Given the description of an element on the screen output the (x, y) to click on. 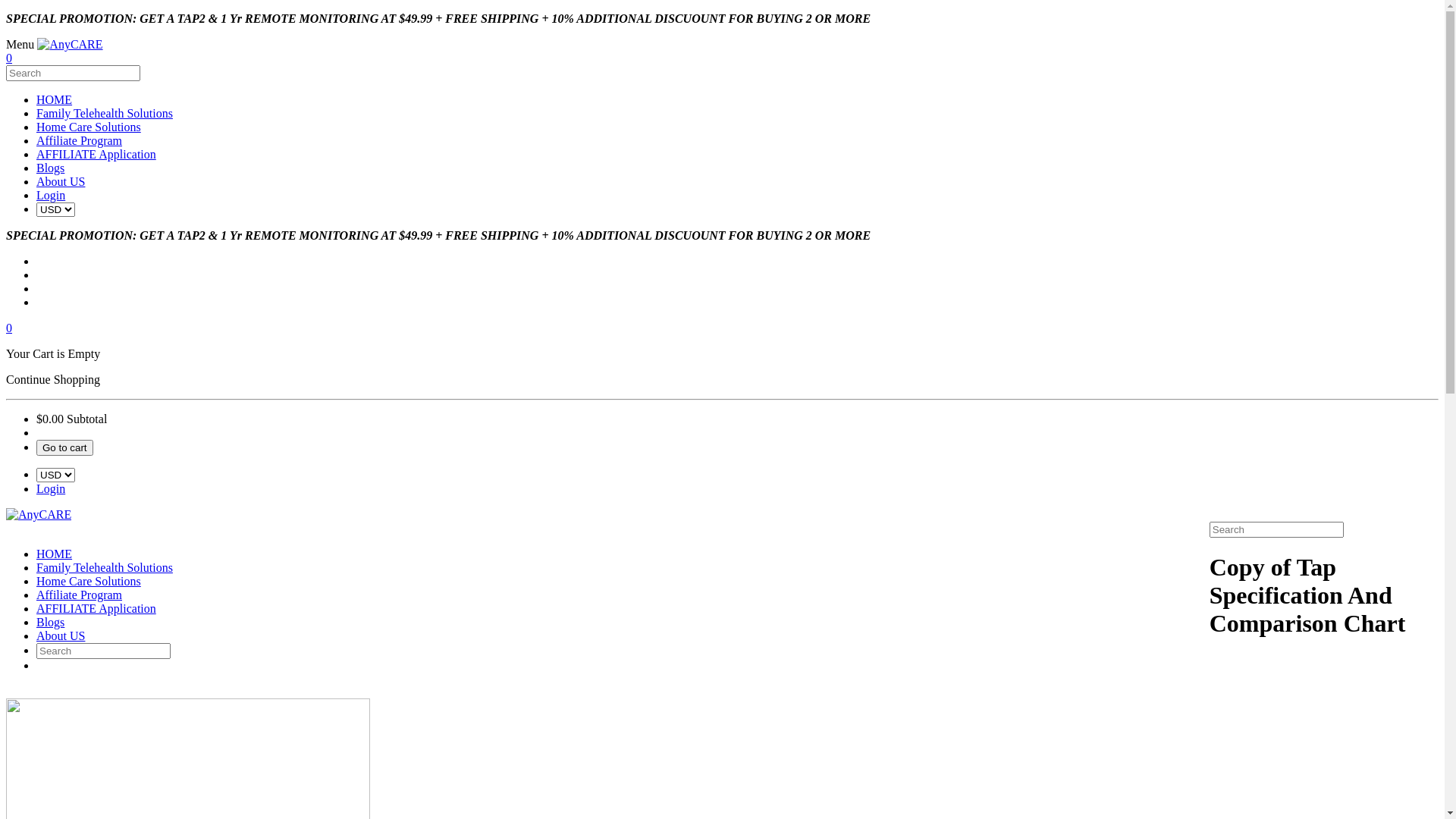
Affiliate Program Element type: text (79, 594)
Affiliate Program Element type: text (79, 140)
HOME Element type: text (54, 553)
Home Care Solutions Element type: text (88, 126)
About US Element type: text (60, 181)
HOME Element type: text (54, 99)
About US Element type: text (60, 635)
Blogs Element type: text (50, 167)
Go to cart Element type: text (64, 447)
Login Element type: text (50, 488)
AFFILIATE Application Element type: text (96, 608)
Blogs Element type: text (50, 621)
Continue Shopping Element type: text (53, 379)
AFFILIATE Application Element type: text (96, 153)
0 Element type: text (9, 327)
0 Element type: text (9, 57)
Menu Element type: text (722, 43)
Family Telehealth Solutions Element type: text (104, 567)
Home Care Solutions Element type: text (88, 580)
AnyCARE Element type: hover (38, 514)
Family Telehealth Solutions Element type: text (104, 112)
AnyCARE Element type: hover (69, 43)
Login Element type: text (50, 194)
